Given the description of an element on the screen output the (x, y) to click on. 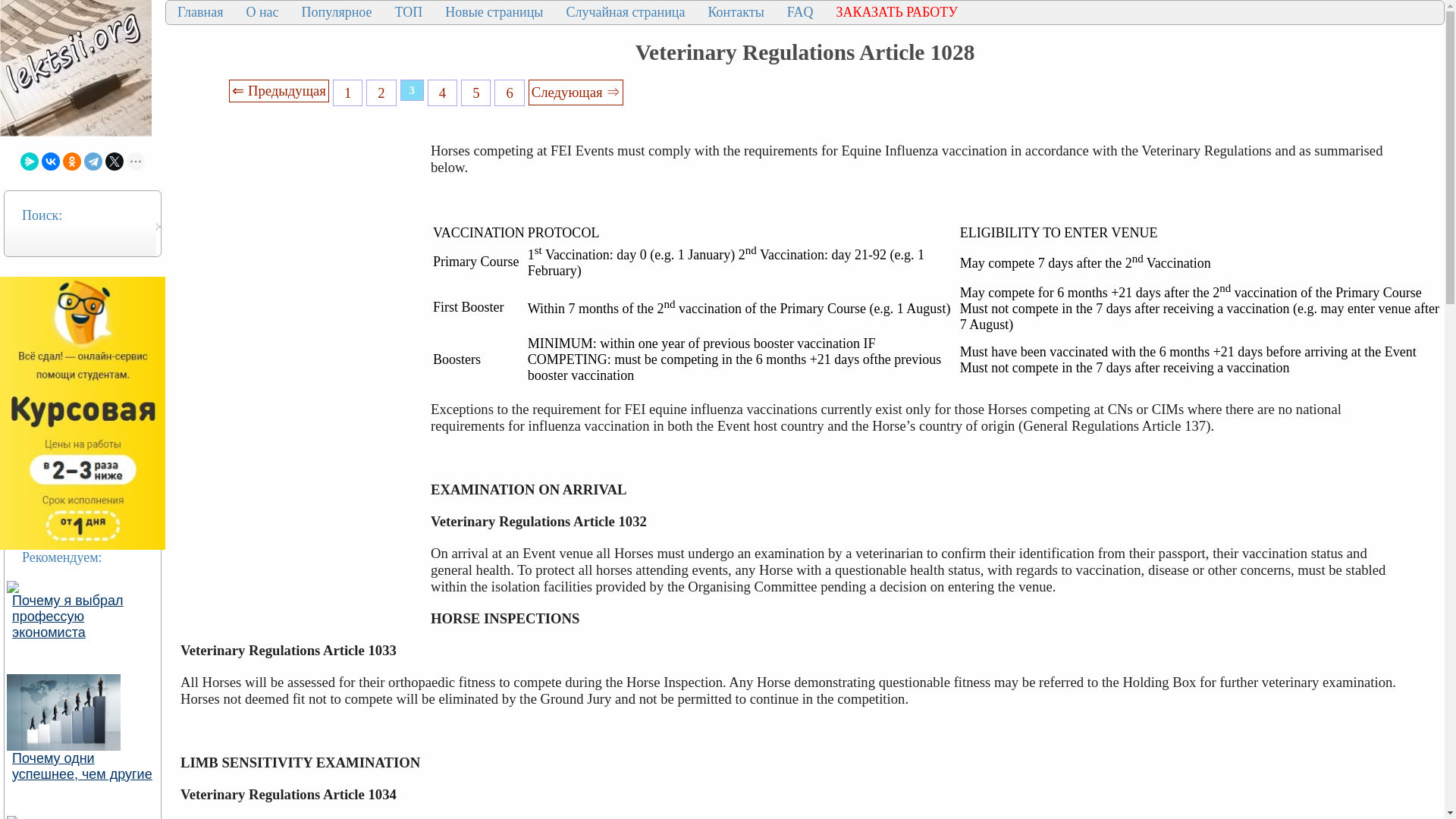
Twitter (113, 161)
Telegram (92, 161)
